Given the description of an element on the screen output the (x, y) to click on. 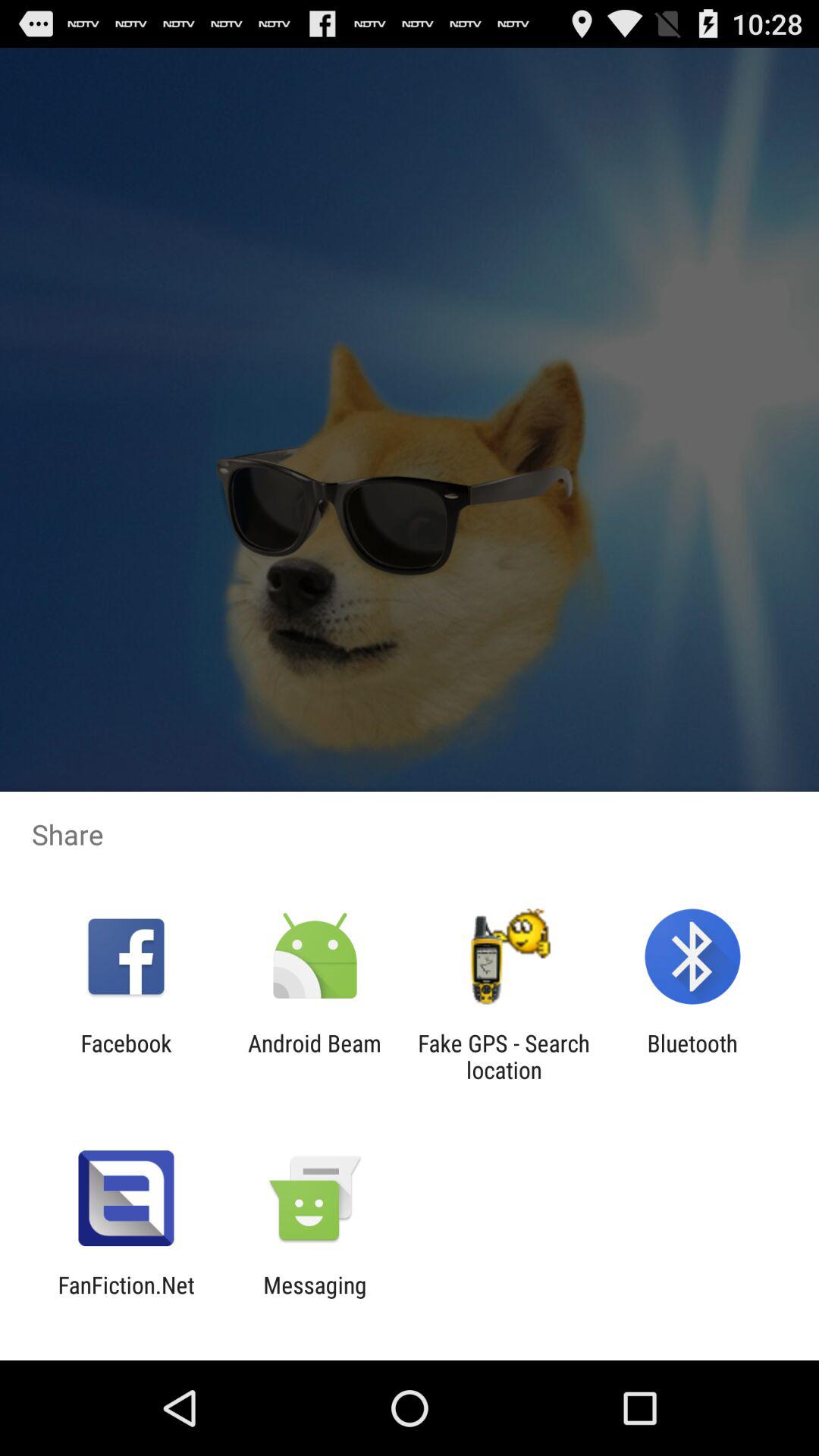
open item to the left of the messaging app (126, 1298)
